Given the description of an element on the screen output the (x, y) to click on. 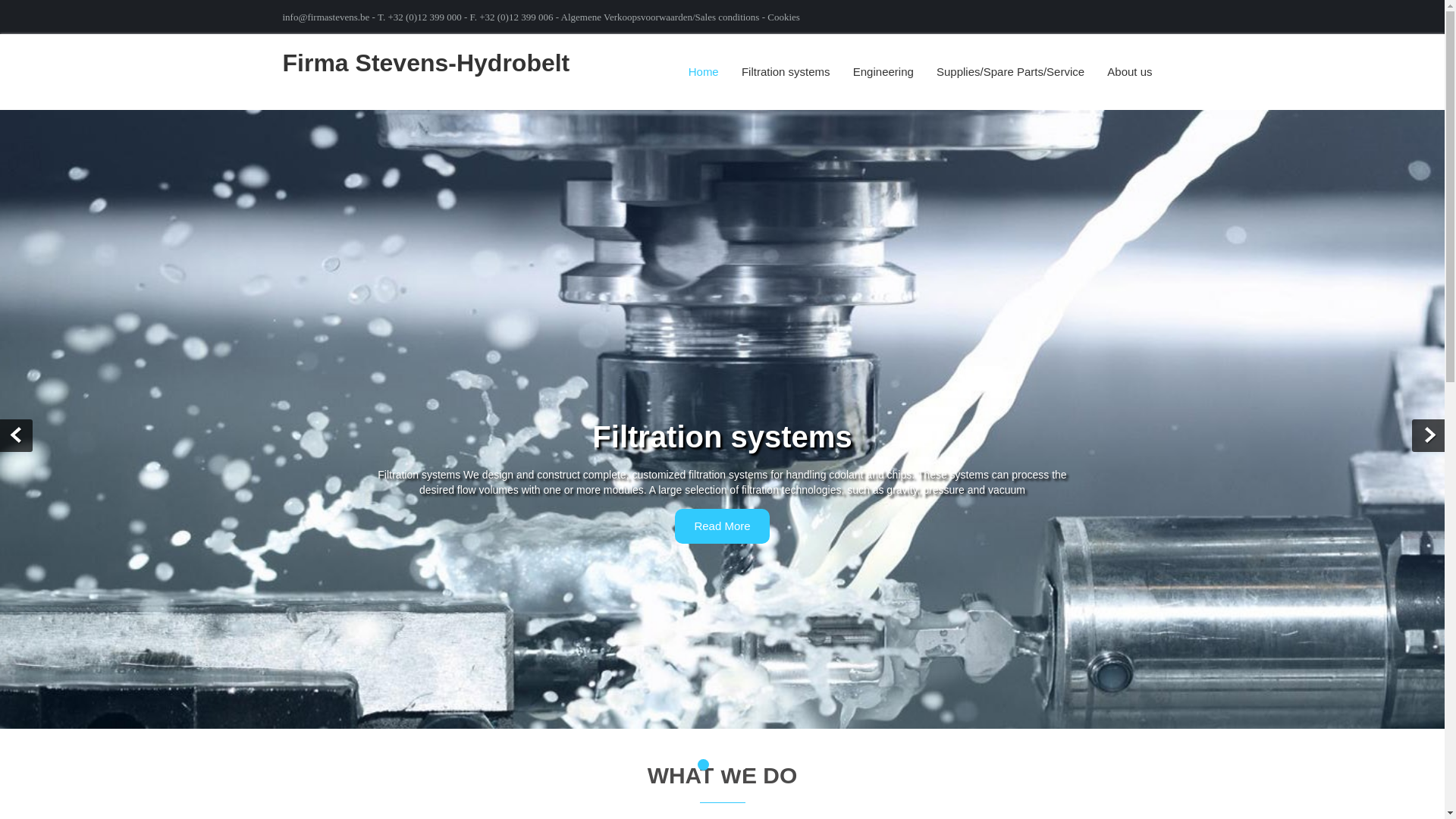
Prev (16, 435)
1 (703, 764)
Engineering (883, 71)
Cookies  (784, 16)
3 (740, 764)
Filtration systems (786, 71)
Firma Stevens-Hydrobelt (425, 62)
Read More (721, 524)
2 (722, 764)
